Given the description of an element on the screen output the (x, y) to click on. 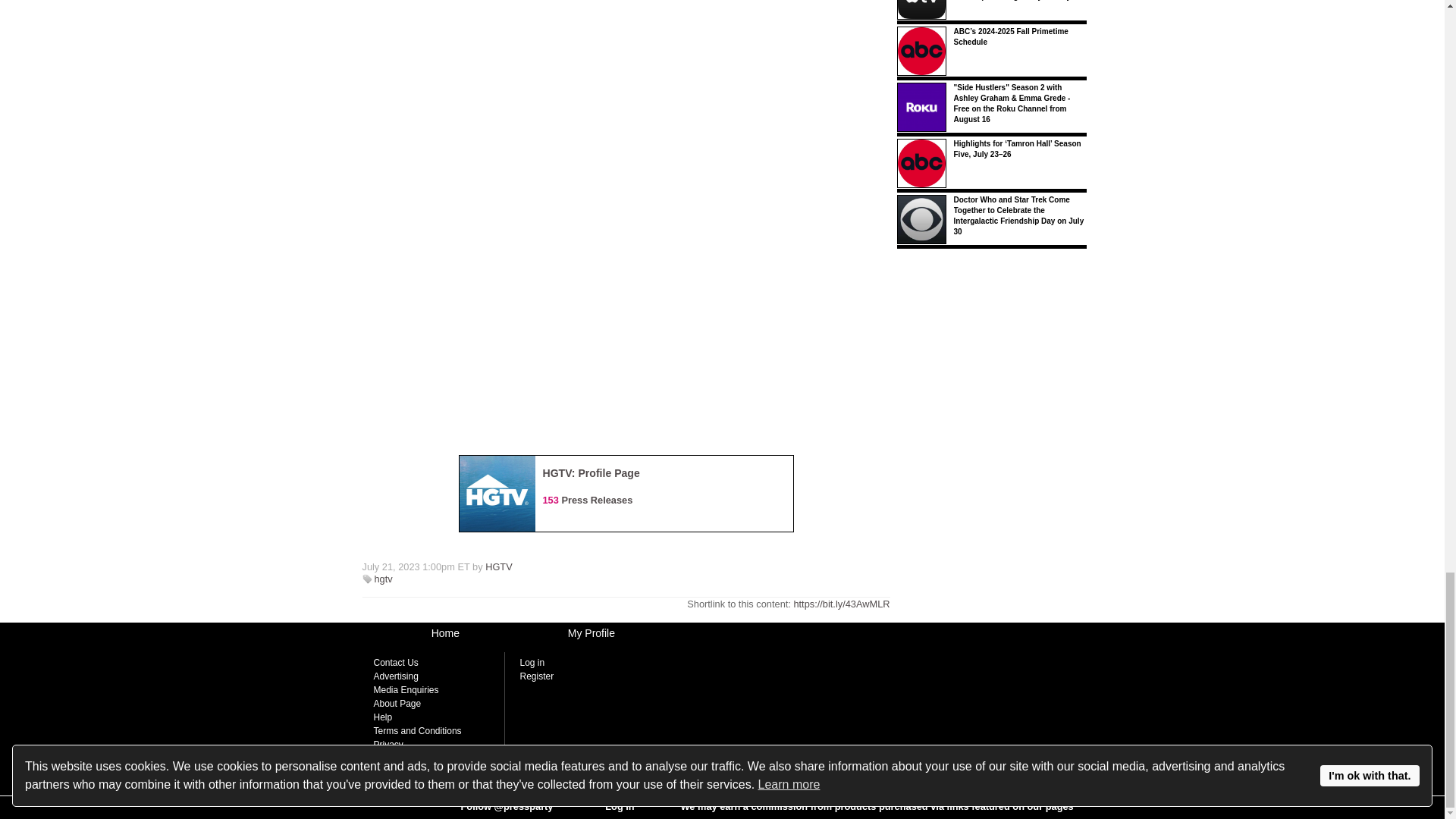
HGTV: Profile Page (591, 472)
HGTV (498, 566)
153 Press Releases (588, 500)
hgtv (383, 578)
